Given the description of an element on the screen output the (x, y) to click on. 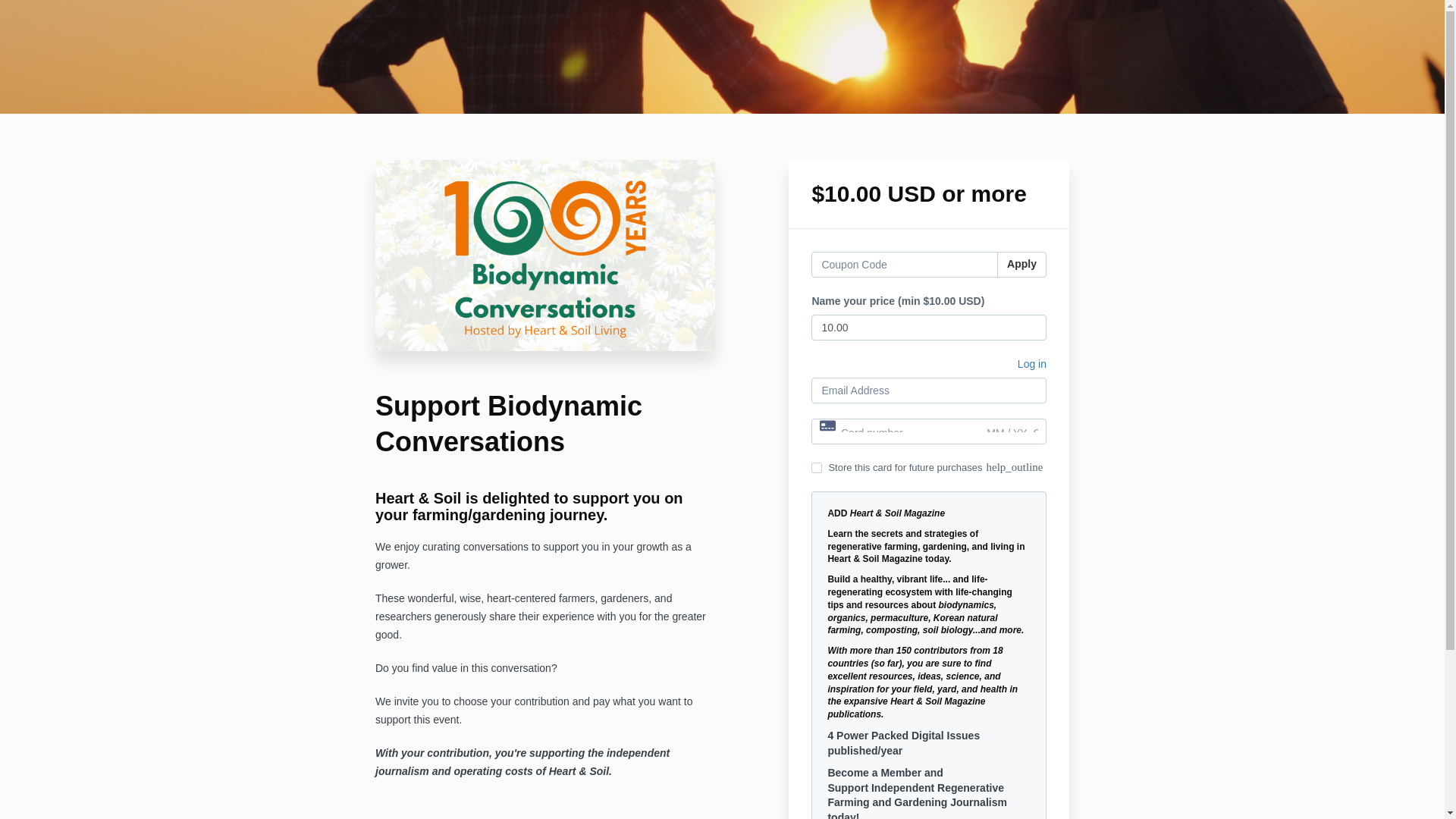
10.00 (928, 327)
Log in (1031, 366)
Secure card payment input frame (928, 432)
1 (816, 467)
Apply (1021, 264)
